Given the description of an element on the screen output the (x, y) to click on. 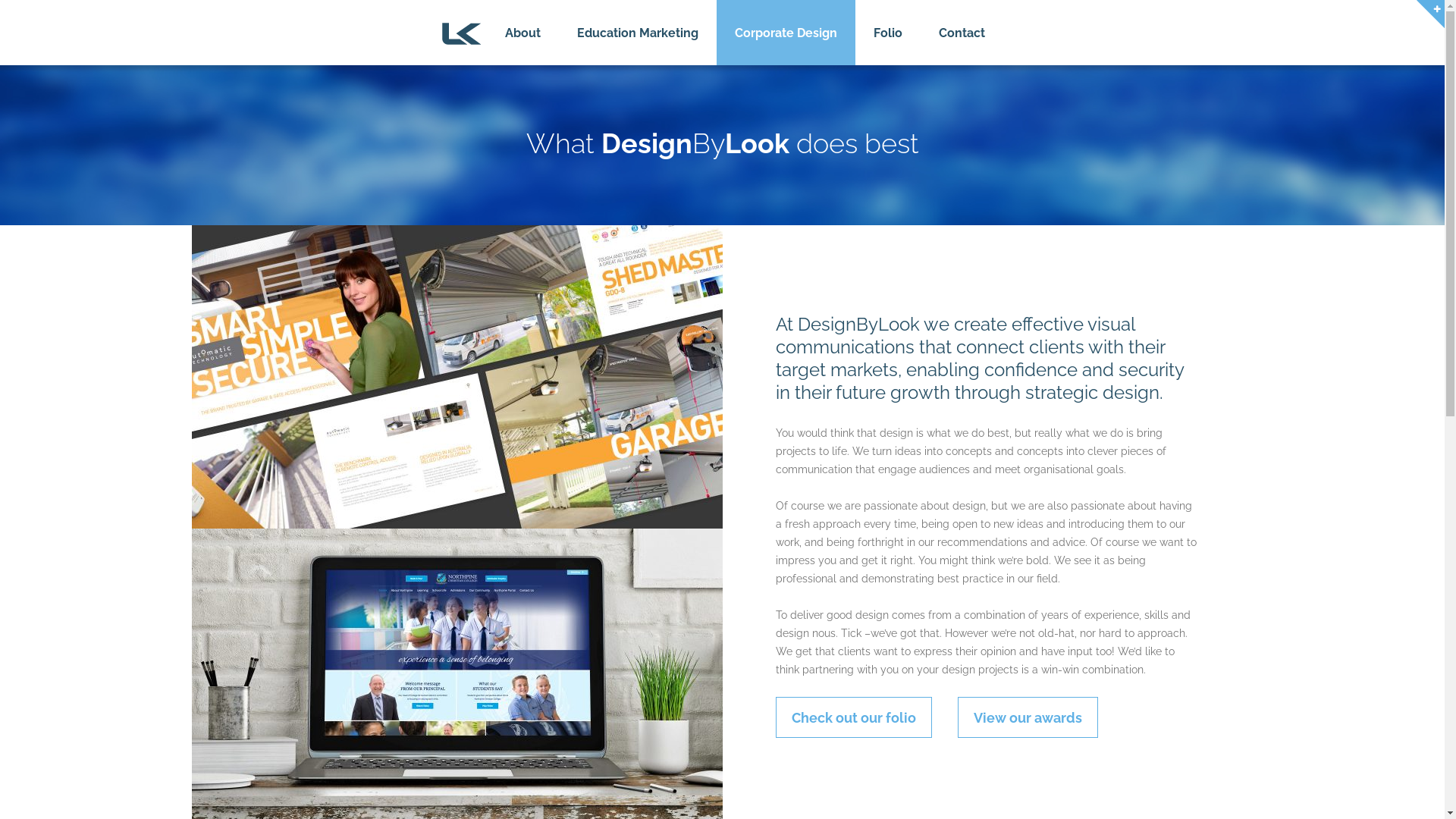
View our awards Element type: text (1027, 716)
Corporate Design Element type: text (784, 32)
Contact Element type: text (961, 32)
Education Marketing Element type: text (636, 32)
Check out our folio Element type: text (853, 716)
About Element type: text (522, 32)
DesignByLook Element type: hover (460, 33)
Folio Element type: text (887, 32)
